Given the description of an element on the screen output the (x, y) to click on. 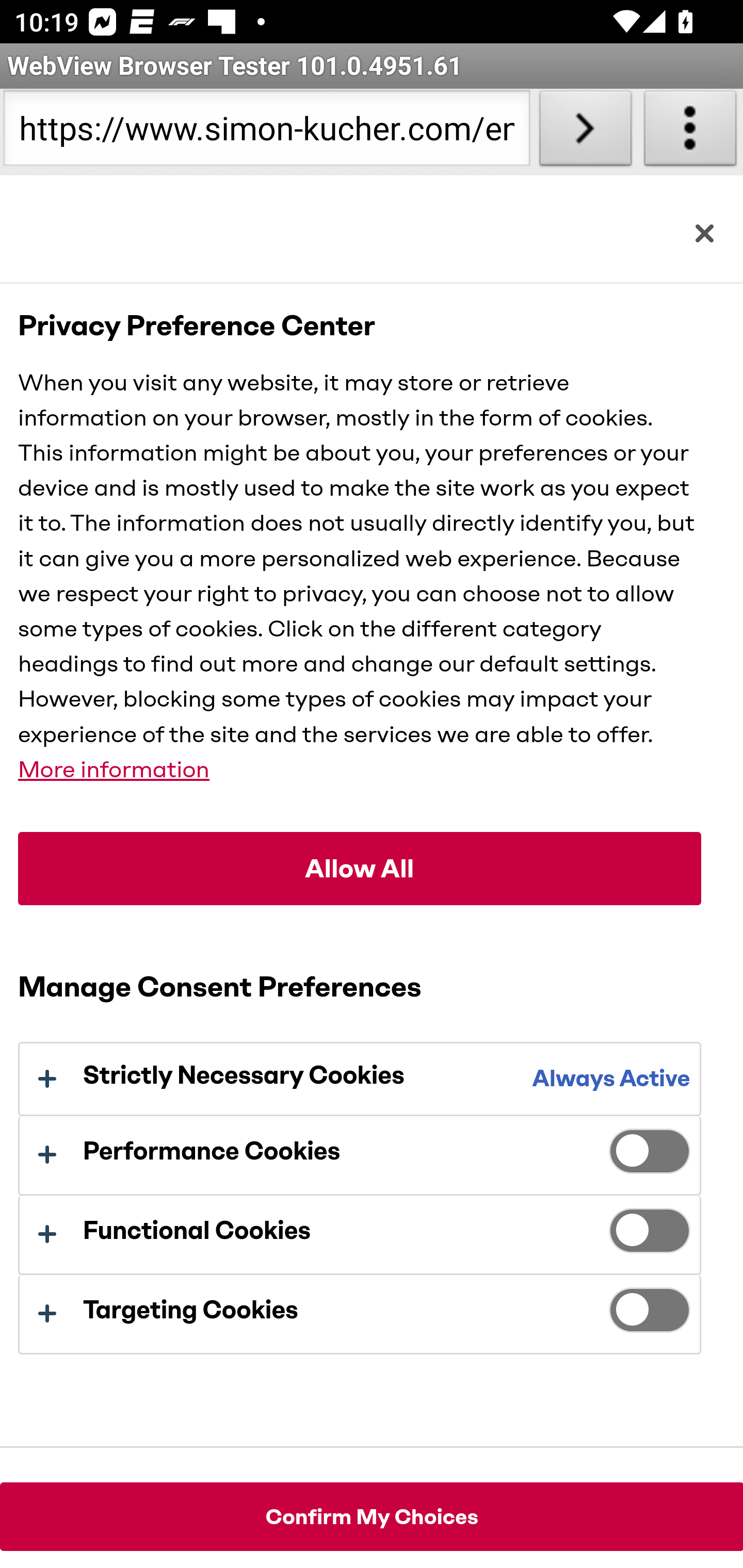
Load URL (585, 132)
About WebView (690, 132)
